Given the description of an element on the screen output the (x, y) to click on. 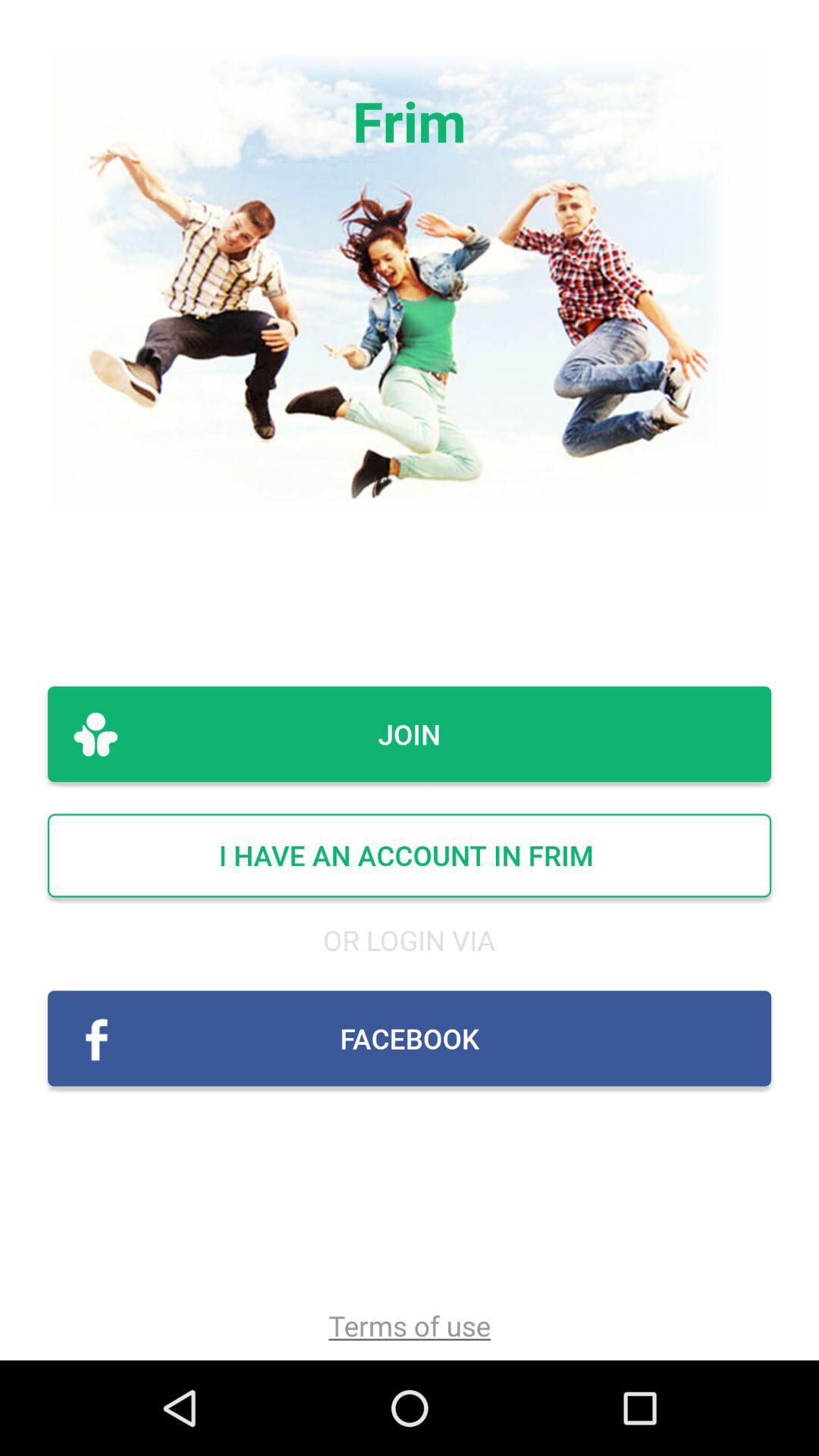
flip to i have an (409, 855)
